Given the description of an element on the screen output the (x, y) to click on. 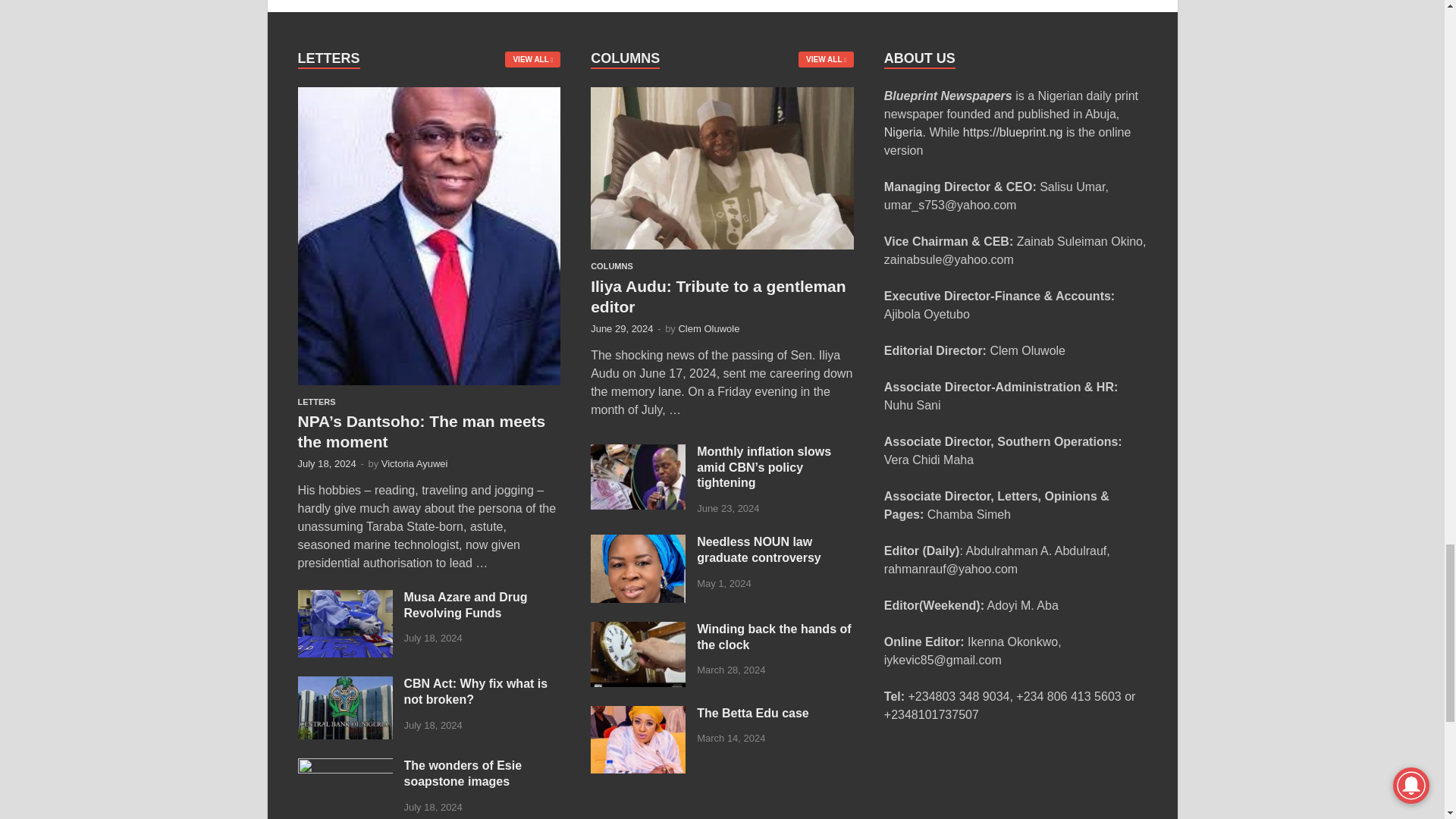
CBN Act: Why fix what is not broken? (344, 684)
Musa Azare and Drug Revolving Funds (344, 598)
